Given the description of an element on the screen output the (x, y) to click on. 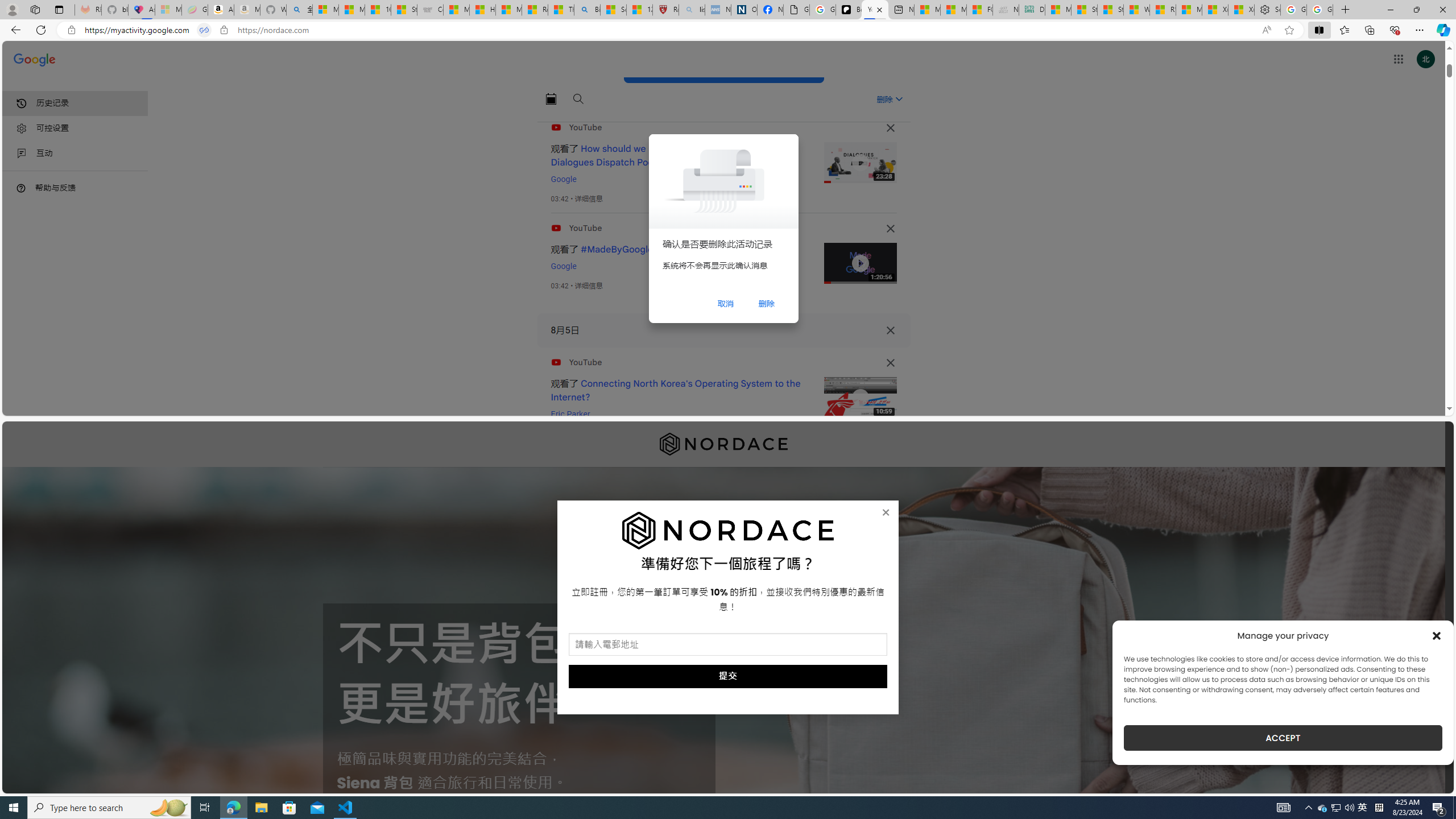
Be Smart | creating Science videos | Patreon (848, 9)
Connecting North Korea's Operating System to the Internet? (675, 390)
FOX News - MSN (979, 9)
